Given the description of an element on the screen output the (x, y) to click on. 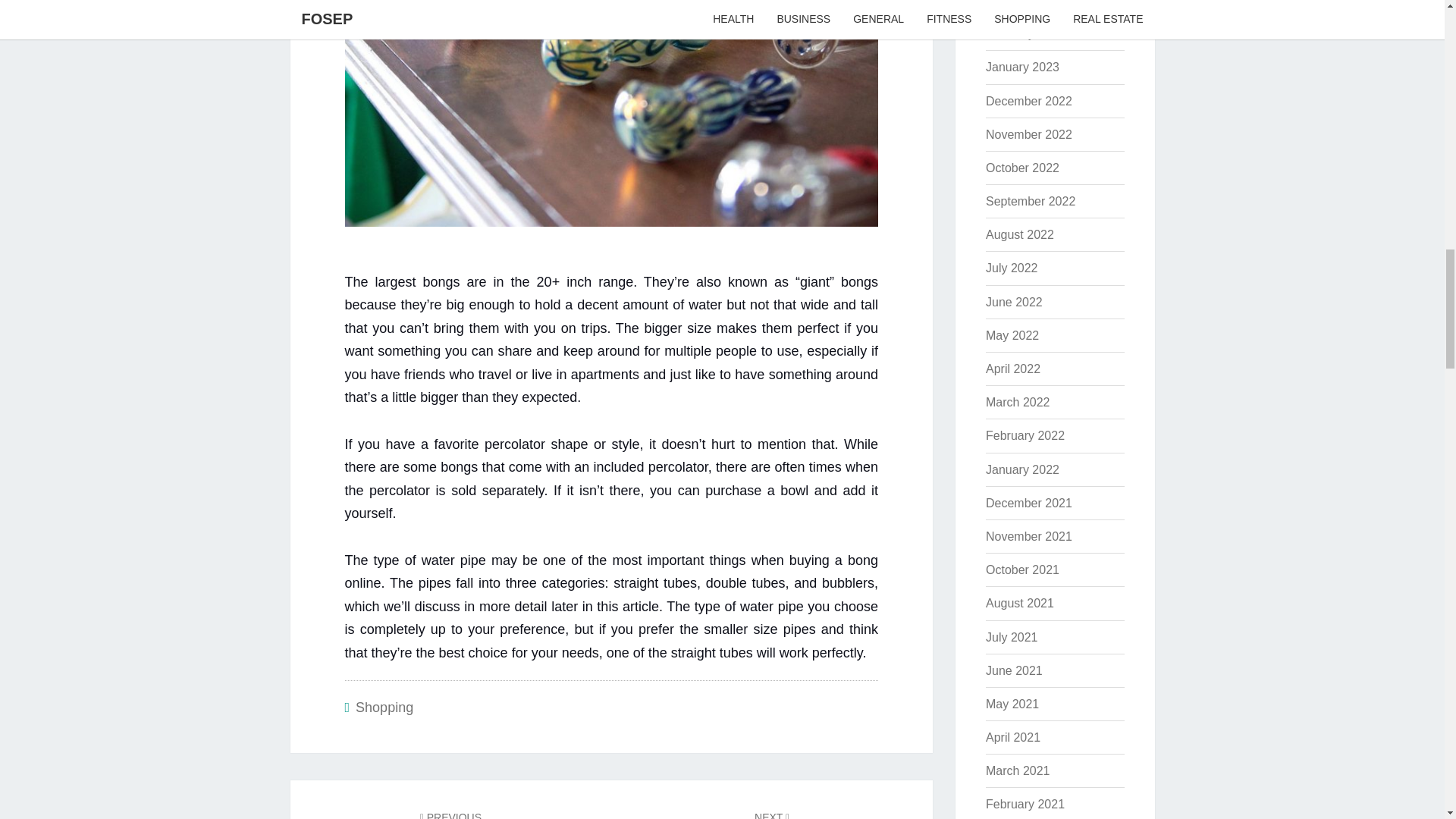
February 2023 (1024, 33)
March 2023 (1017, 3)
Shopping (384, 707)
January 2023 (1022, 66)
